Given the description of an element on the screen output the (x, y) to click on. 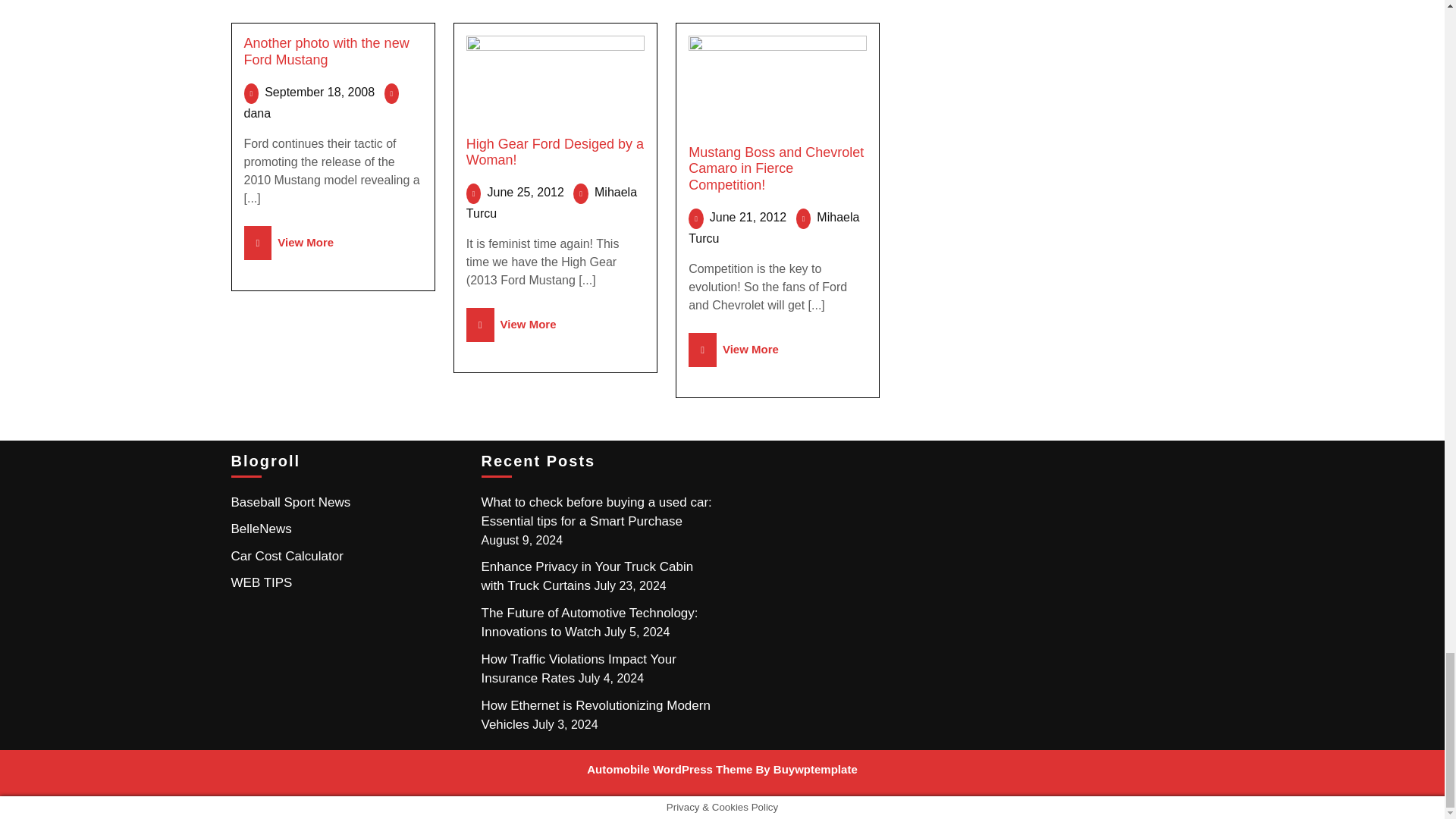
Belle News (260, 528)
Motoring Costs Calculator (286, 555)
Baseball Sport News (290, 502)
WEB TIPS (261, 582)
